Given the description of an element on the screen output the (x, y) to click on. 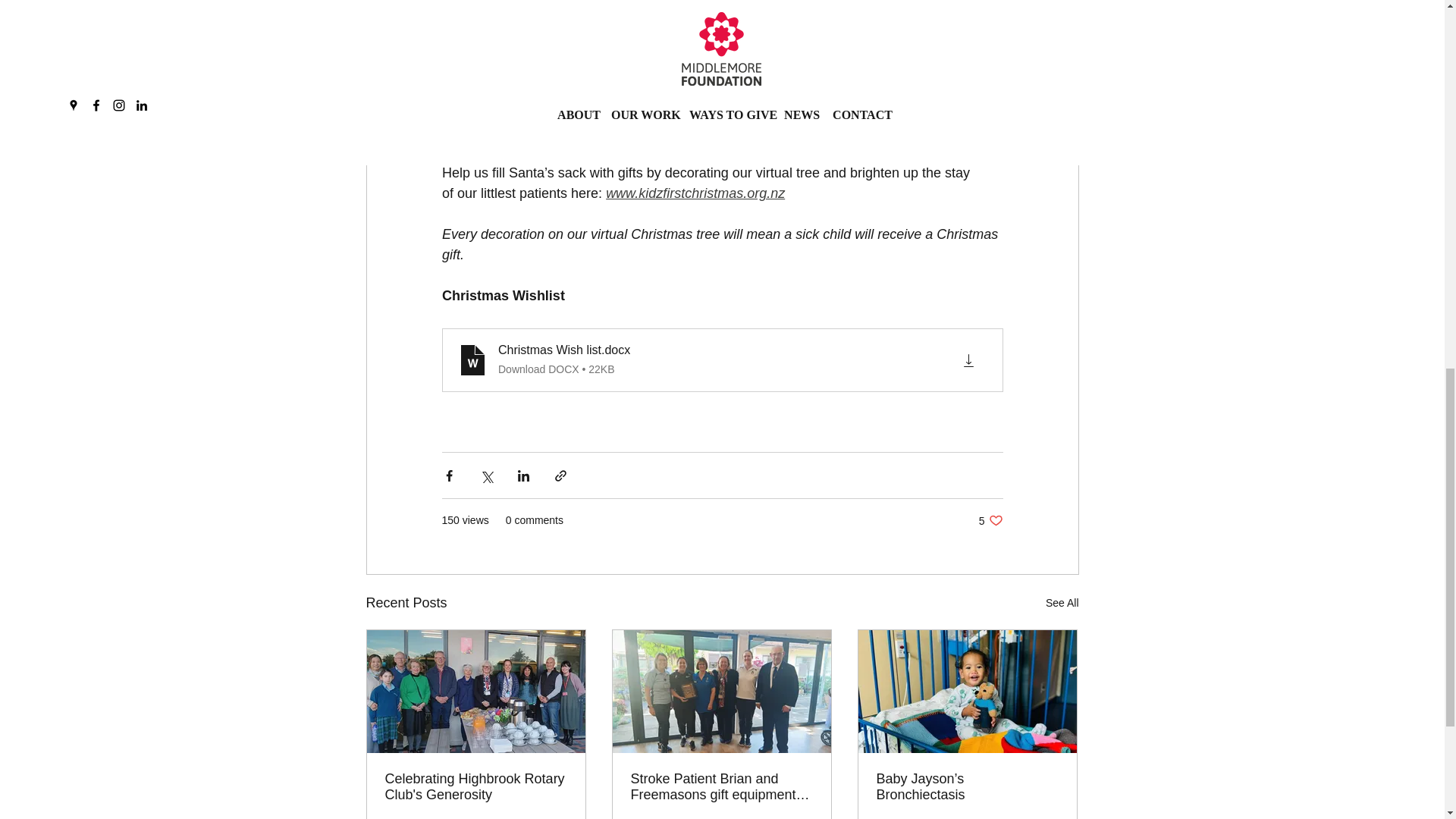
www.kidzfirstchristmas.org.nz (694, 192)
Donate to Kidz First Christmas (722, 79)
See All (1061, 603)
